Given the description of an element on the screen output the (x, y) to click on. 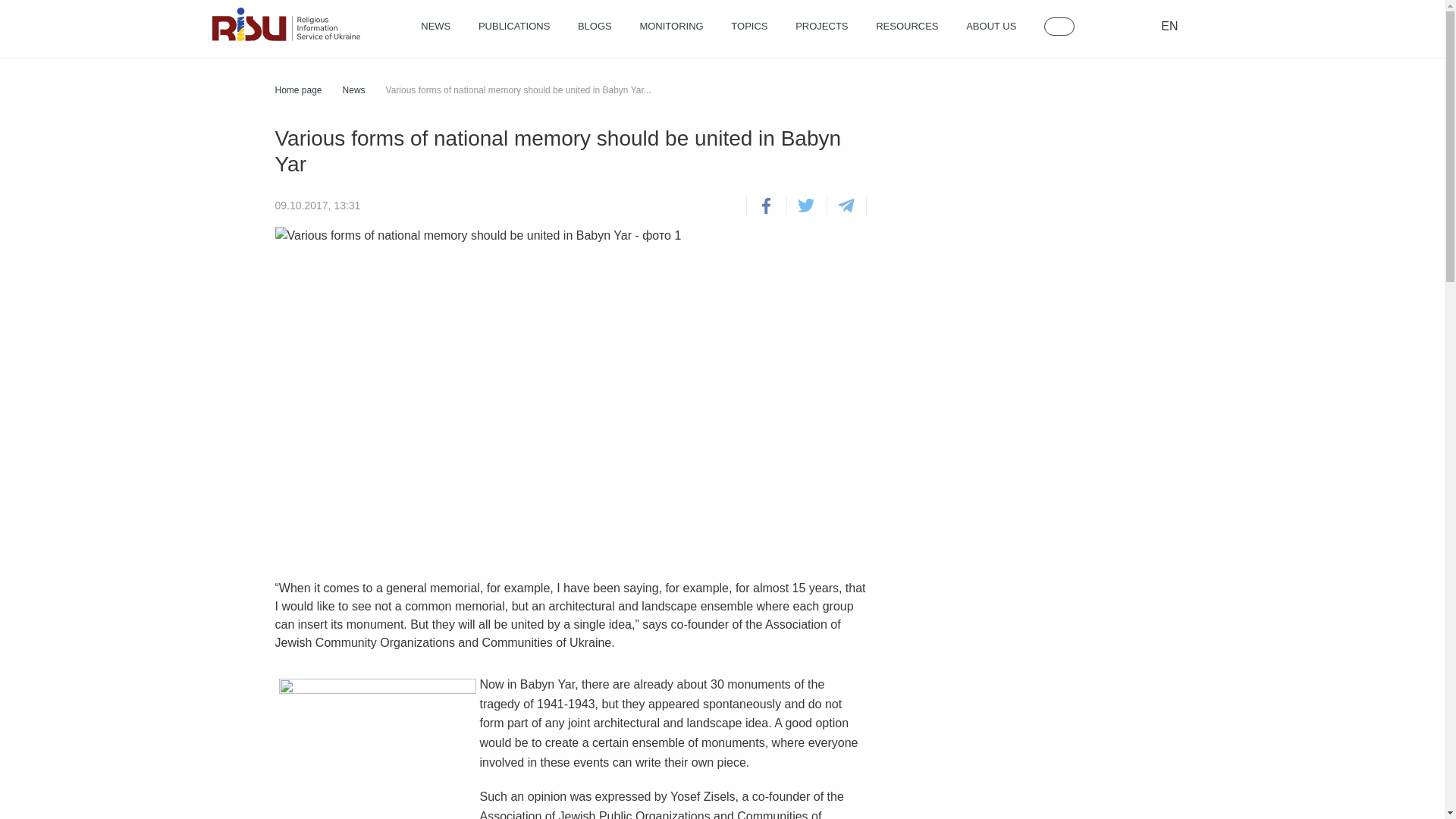
MONITORING (671, 26)
NEWS (434, 26)
PROJECTS (820, 26)
PUBLICATIONS (514, 26)
TOPICS (748, 26)
ABOUT US (991, 26)
RESOURCES (906, 26)
BLOGS (594, 26)
